Given the description of an element on the screen output the (x, y) to click on. 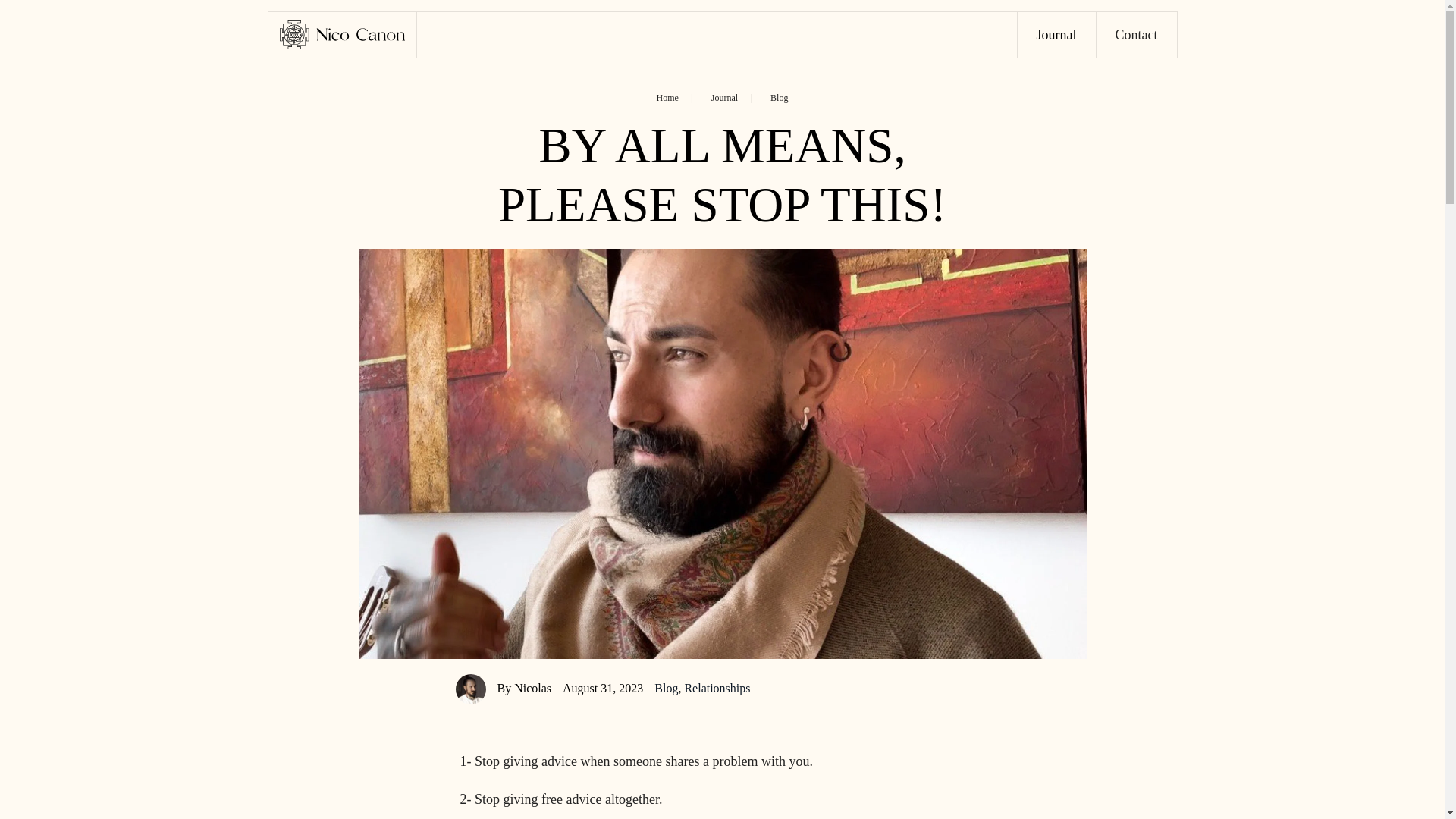
By Nicolas (524, 687)
Blog (665, 687)
Contact (1136, 34)
Home (667, 97)
Relationships (716, 687)
Blog (778, 97)
Journal (1056, 34)
Journal (724, 97)
